Given the description of an element on the screen output the (x, y) to click on. 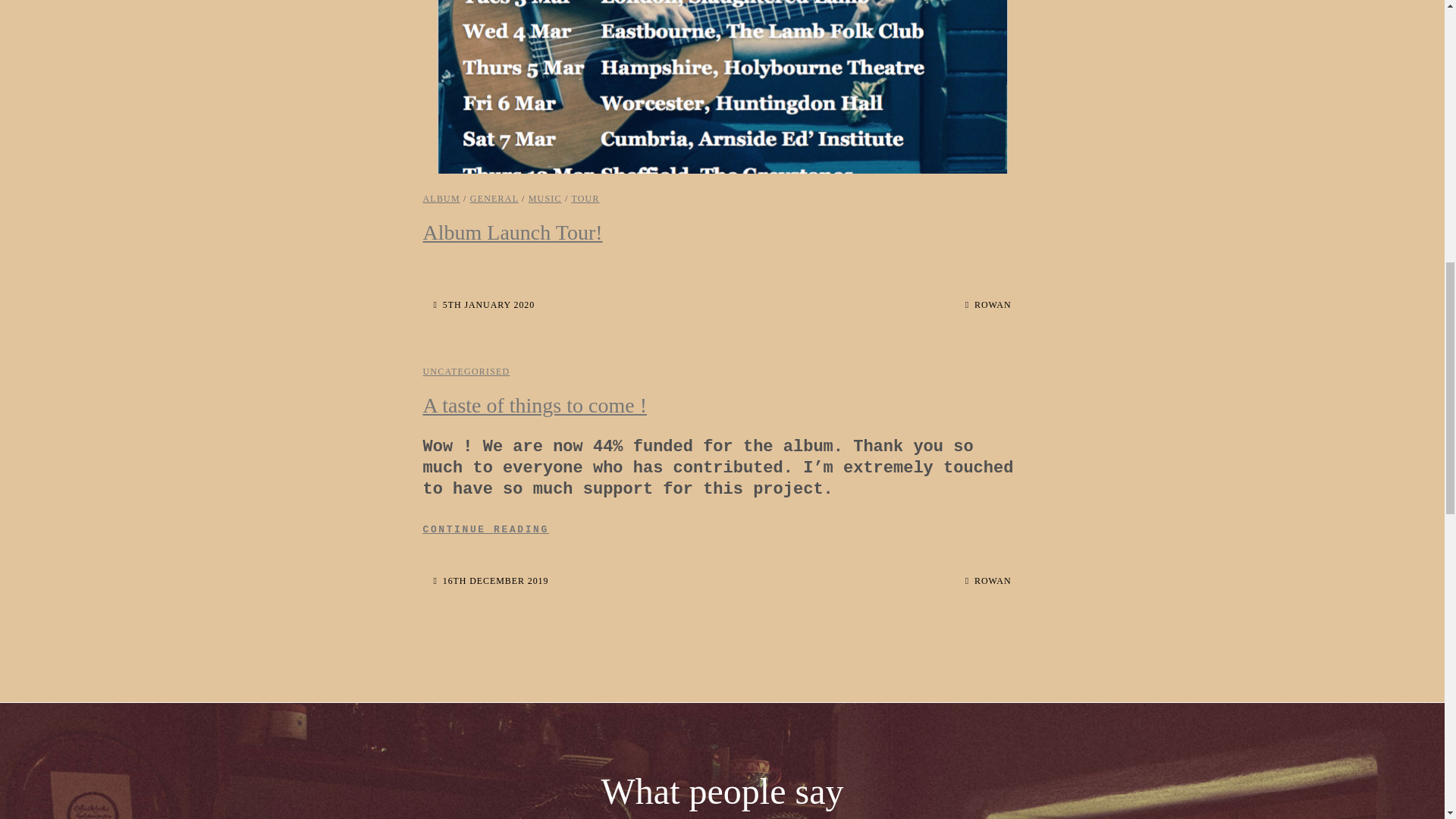
UNCATEGORISED (467, 371)
Album Launch Tour! (512, 232)
ROWAN (722, 529)
GENERAL (988, 304)
ALBUM (494, 198)
TOUR (441, 198)
16TH DECEMBER 2019 (584, 198)
A taste of things to come ! (490, 580)
ROWAN (535, 404)
5TH JANUARY 2020 (988, 580)
MUSIC (484, 304)
